Given the description of an element on the screen output the (x, y) to click on. 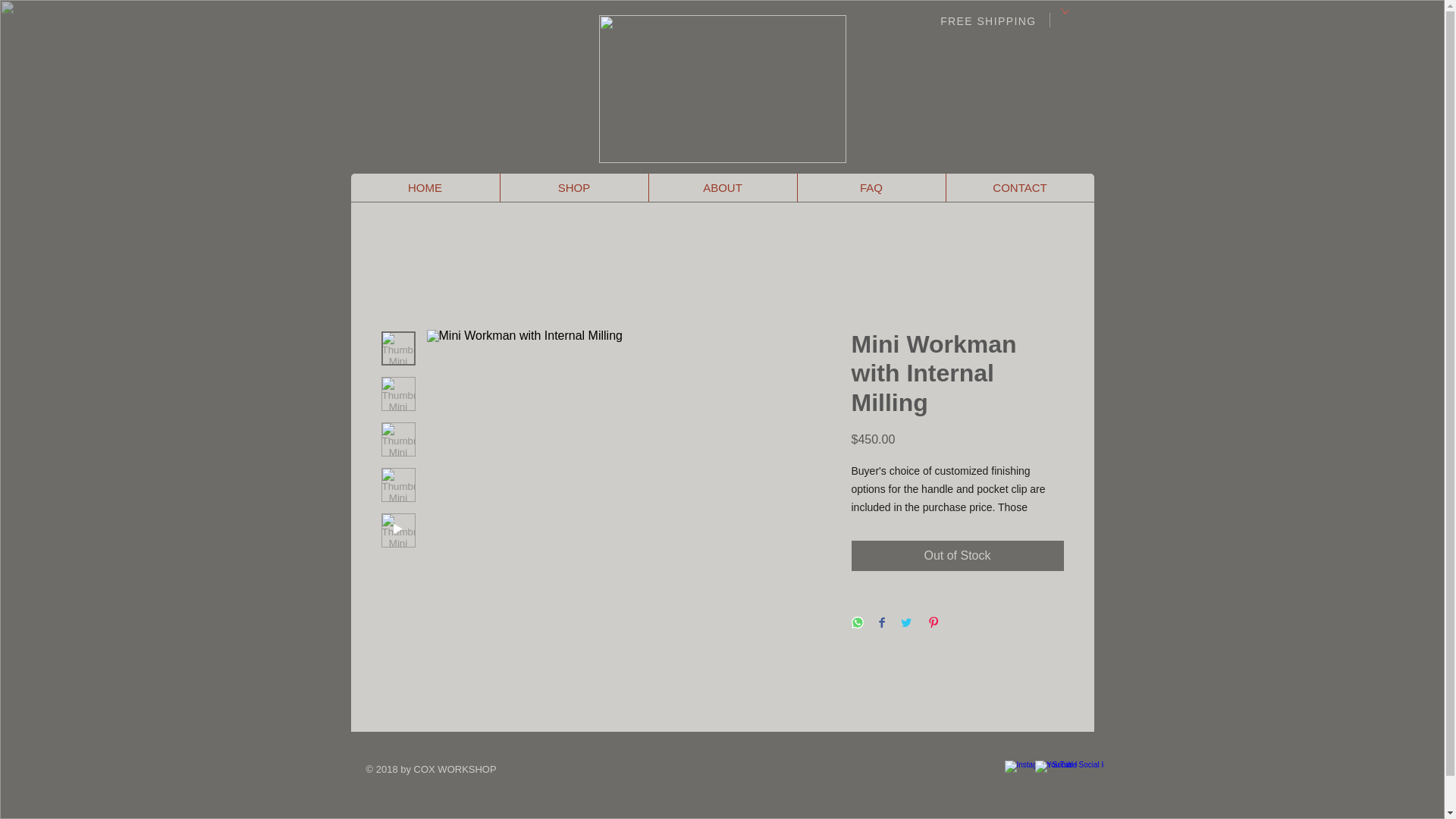
FAQ (870, 187)
HOME (424, 187)
ABOUT (721, 187)
CONTACT (1018, 187)
Out of Stock (956, 555)
SHOP (573, 187)
